Given the description of an element on the screen output the (x, y) to click on. 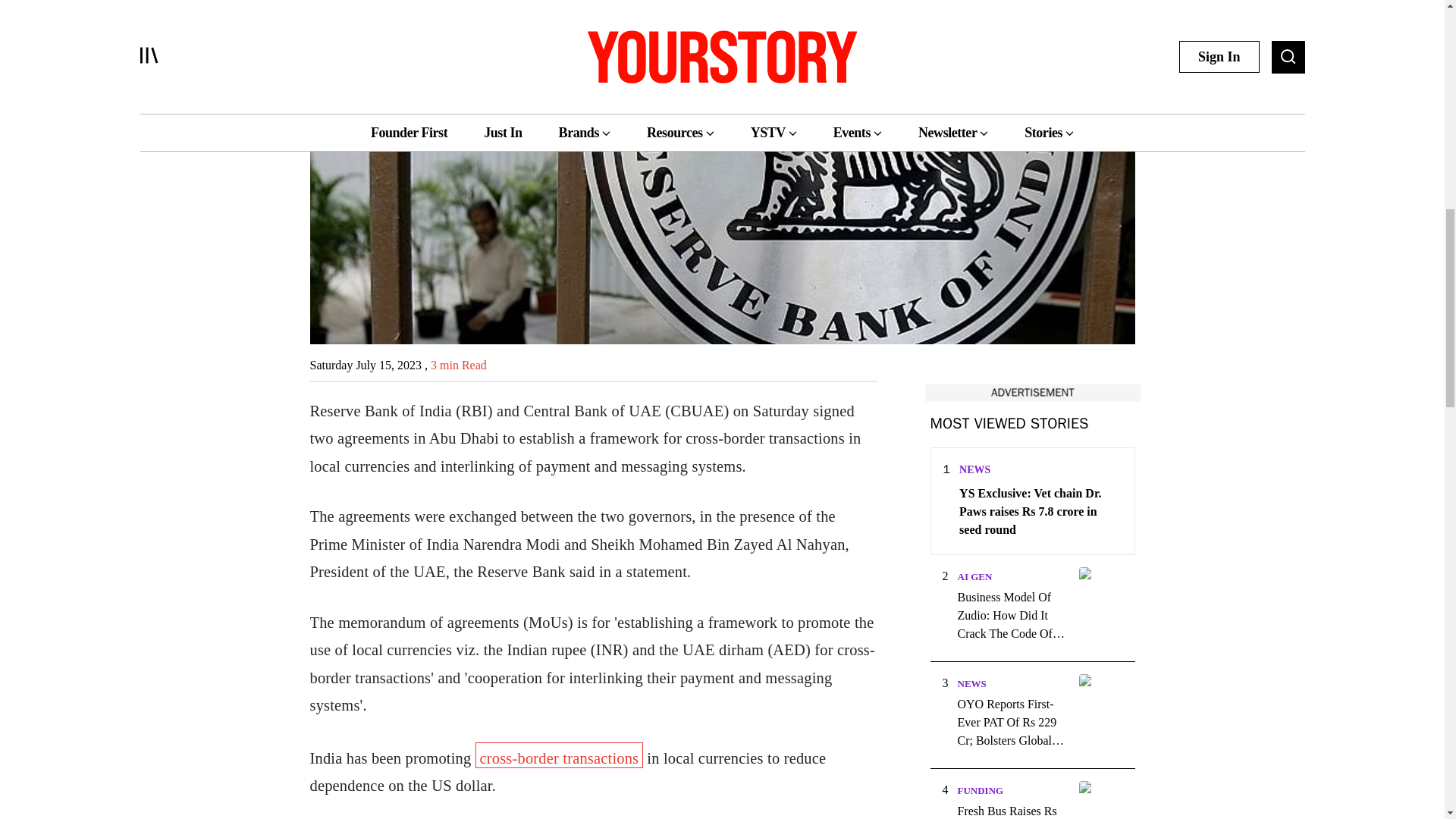
FUNDING (979, 790)
NEWS (970, 683)
NEWS (974, 469)
Advertise with us (1032, 392)
AI GEN (973, 576)
cross-border transactions (559, 755)
